Given the description of an element on the screen output the (x, y) to click on. 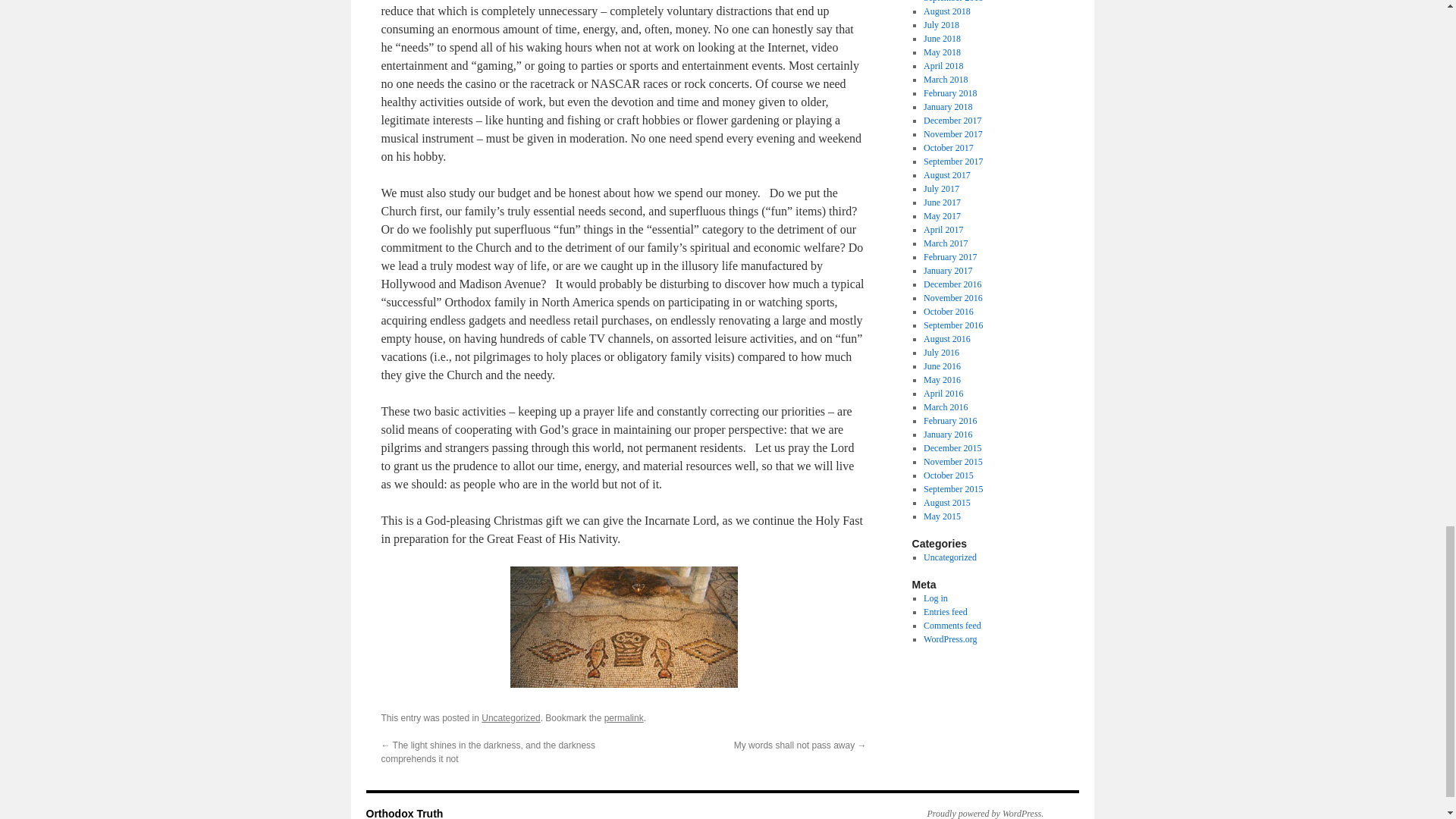
Permalink to First things first (623, 717)
permalink (623, 717)
Uncategorized (510, 717)
